Given the description of an element on the screen output the (x, y) to click on. 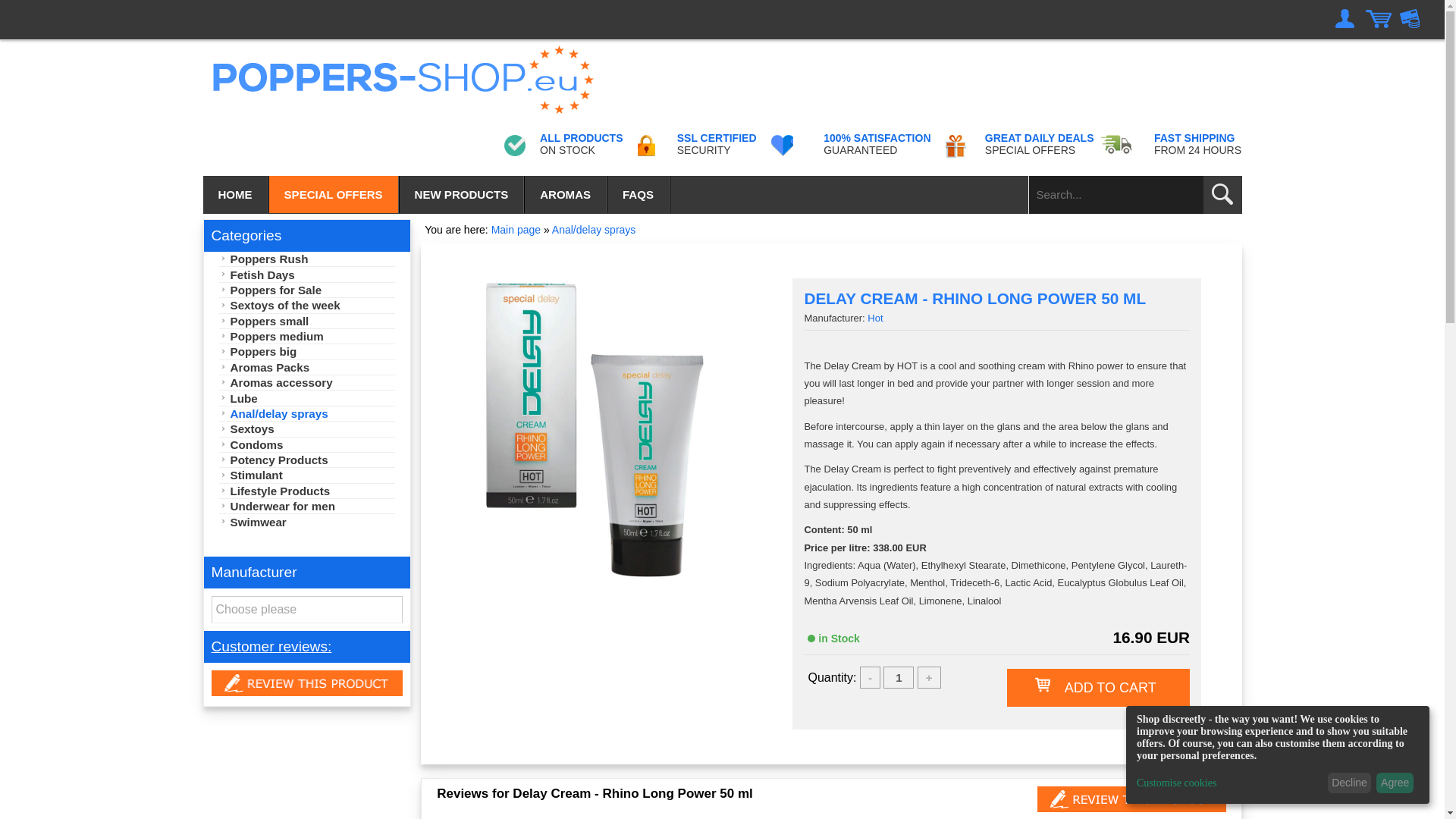
Sextoys of the week (306, 305)
Fetish Days (306, 273)
SPECIAL OFFERS (333, 194)
 Write Evaluation  (1130, 799)
FAQS (638, 194)
Special Offers (333, 194)
New Products (461, 194)
AROMAS (565, 194)
Poppers small (306, 321)
 Search!  (1221, 194)
